Given the description of an element on the screen output the (x, y) to click on. 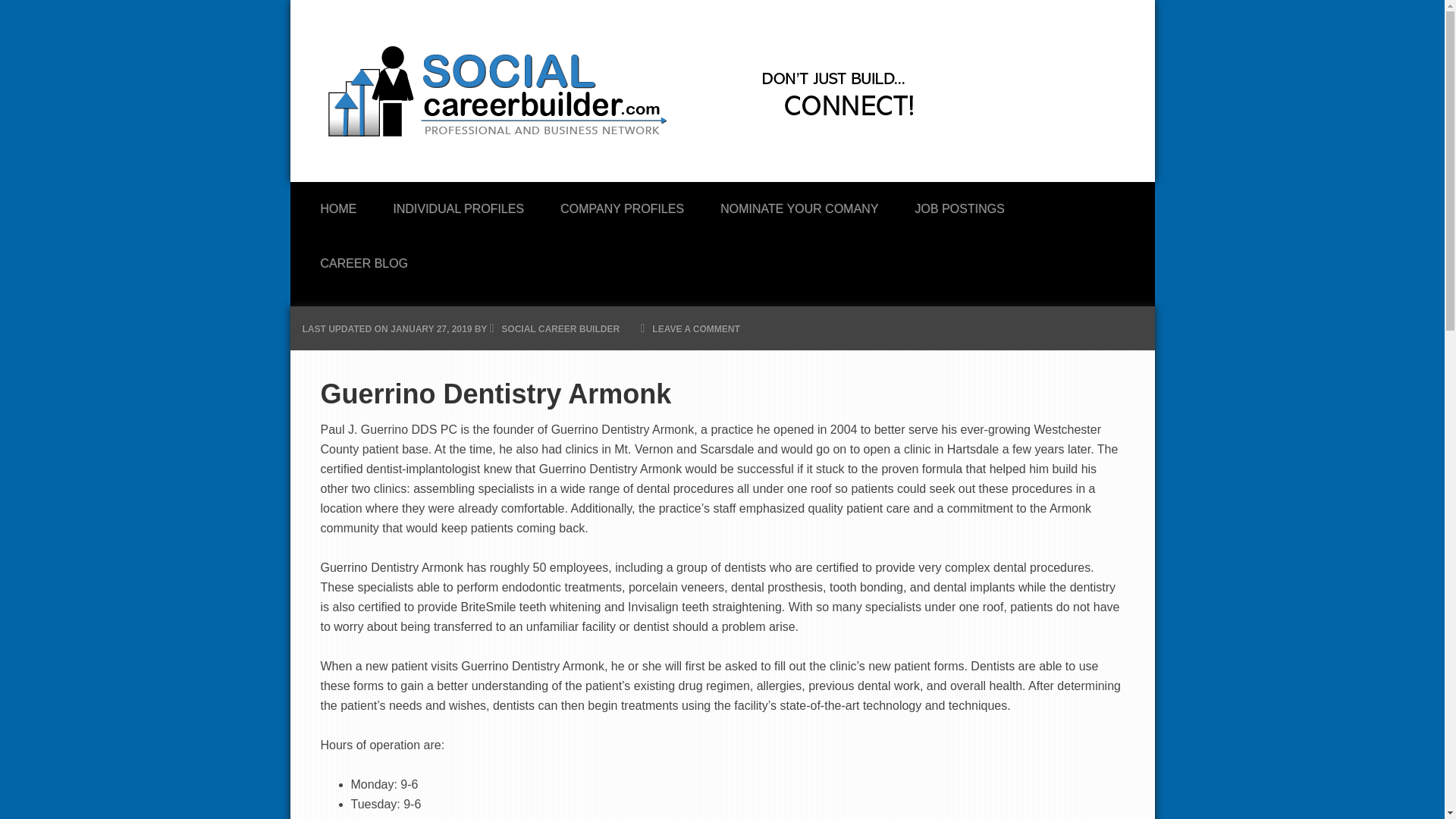
NOMINATE YOUR COMANY (798, 204)
COMPANY PROFILES (621, 204)
SOCIAL CAREER BUILDER (560, 328)
INDIVIDUAL PROFILES (457, 204)
JOB POSTINGS (959, 204)
CAREER BLOG (363, 259)
LEAVE A COMMENT (695, 328)
HOME (337, 204)
